Given the description of an element on the screen output the (x, y) to click on. 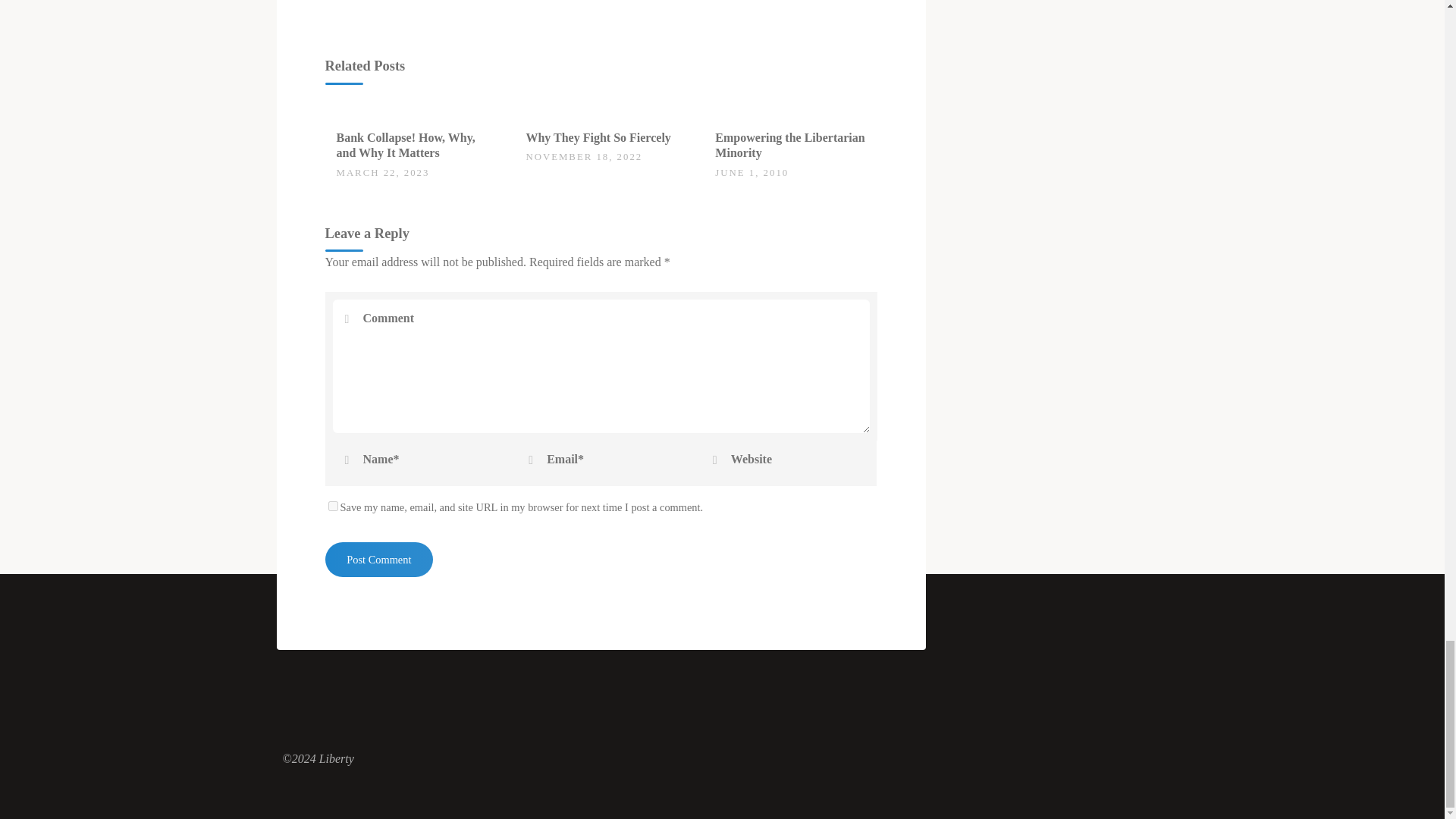
yes (332, 506)
Bank Collapse! How, Why, and Why It Matters (406, 145)
Post Comment (378, 559)
